Given the description of an element on the screen output the (x, y) to click on. 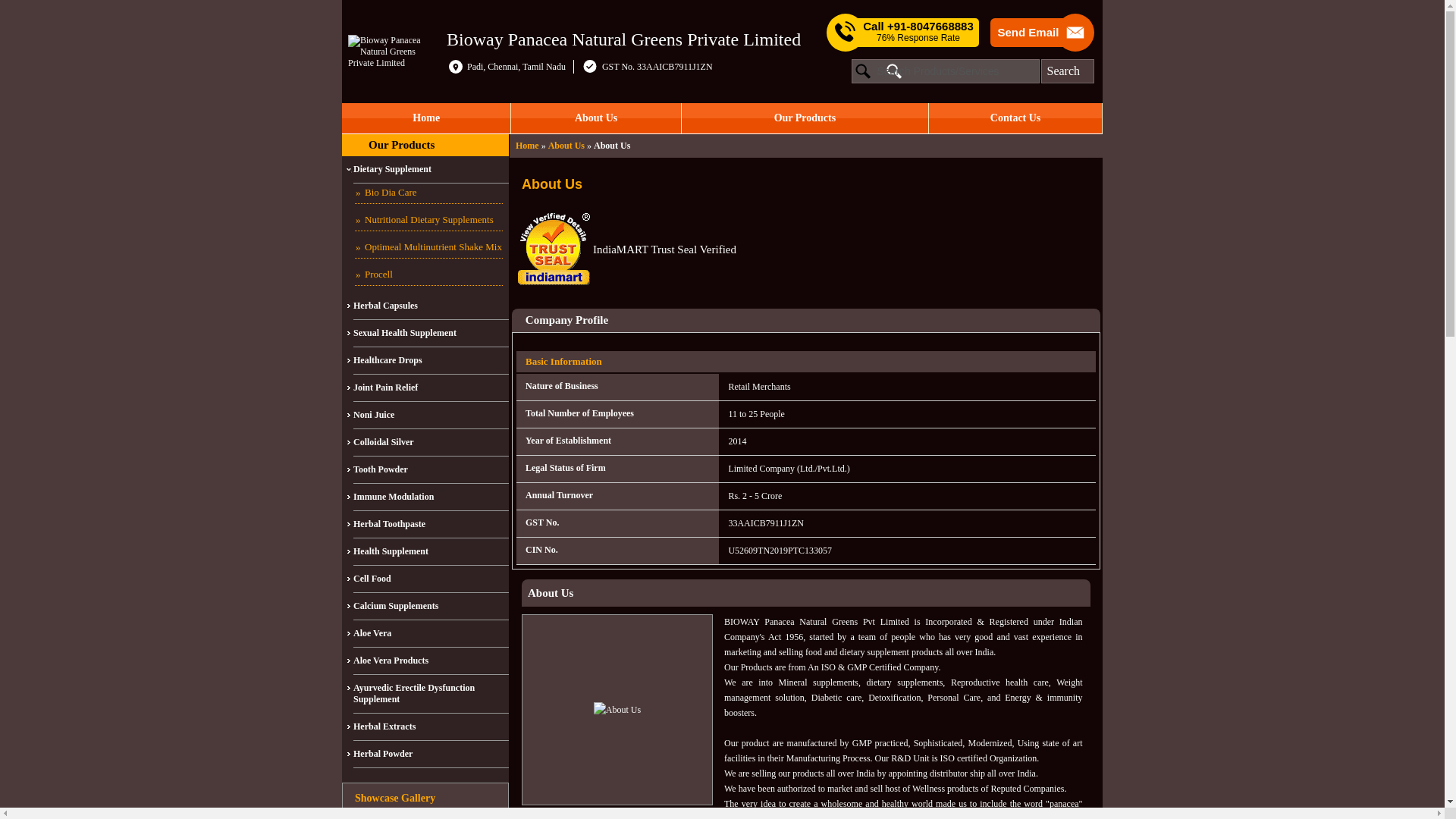
Contact Us (1015, 118)
Bioway Panacea Natural Greens Private Limited (623, 38)
Our Products (804, 118)
About Us (595, 118)
Healthcare Drops (430, 360)
Optimeal Multinutrient Shake Mix (428, 248)
Nutritional Dietary Supplements (428, 220)
Joint Pain Relief (430, 388)
Home (526, 145)
Bio Dia Care (428, 193)
